Given the description of an element on the screen output the (x, y) to click on. 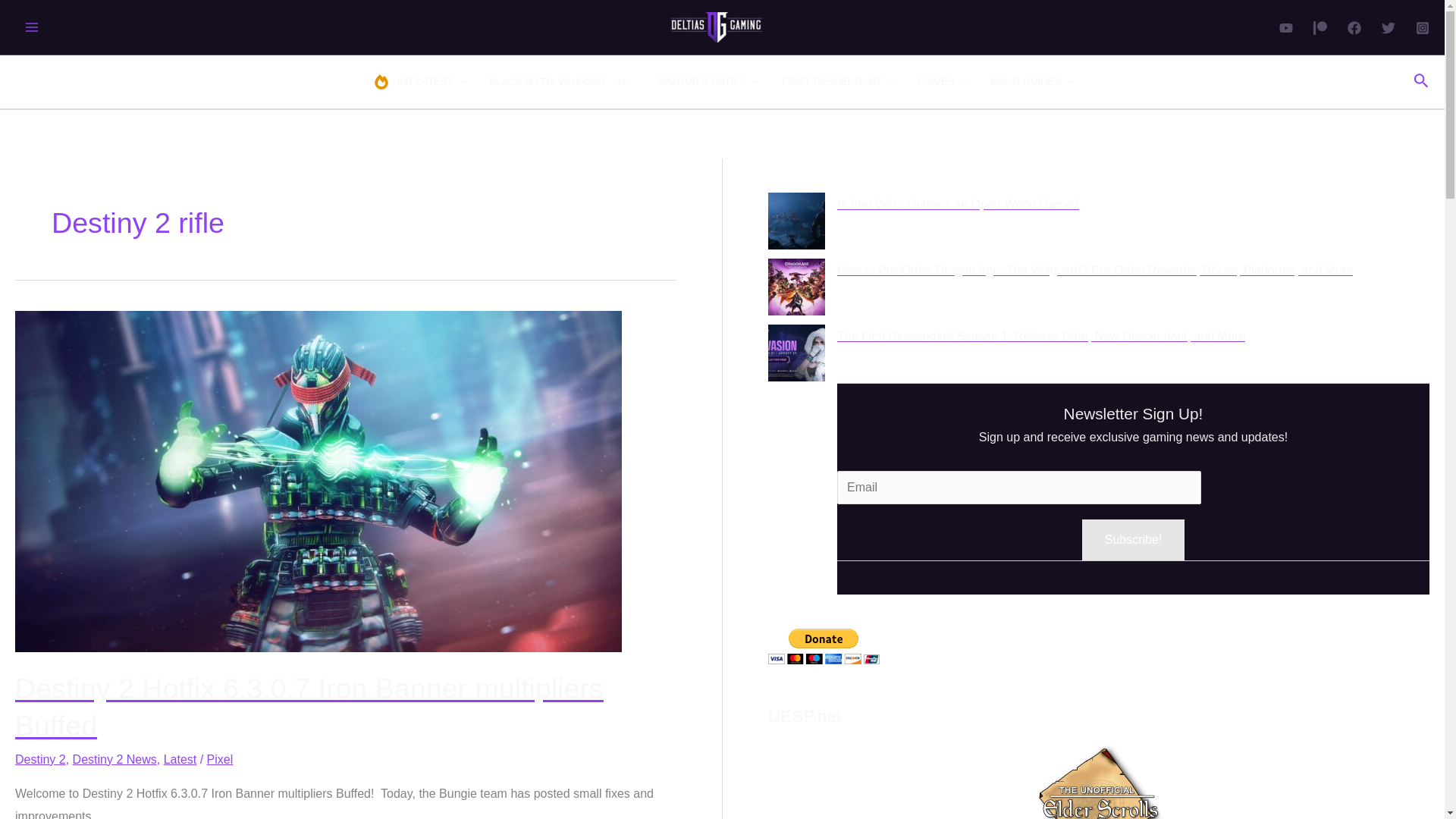
View all posts by Pixel (563, 81)
Subscribe! (219, 758)
PayPal - The safer, easier way to pay online! (1133, 539)
HOT LATEST (823, 646)
